Given the description of an element on the screen output the (x, y) to click on. 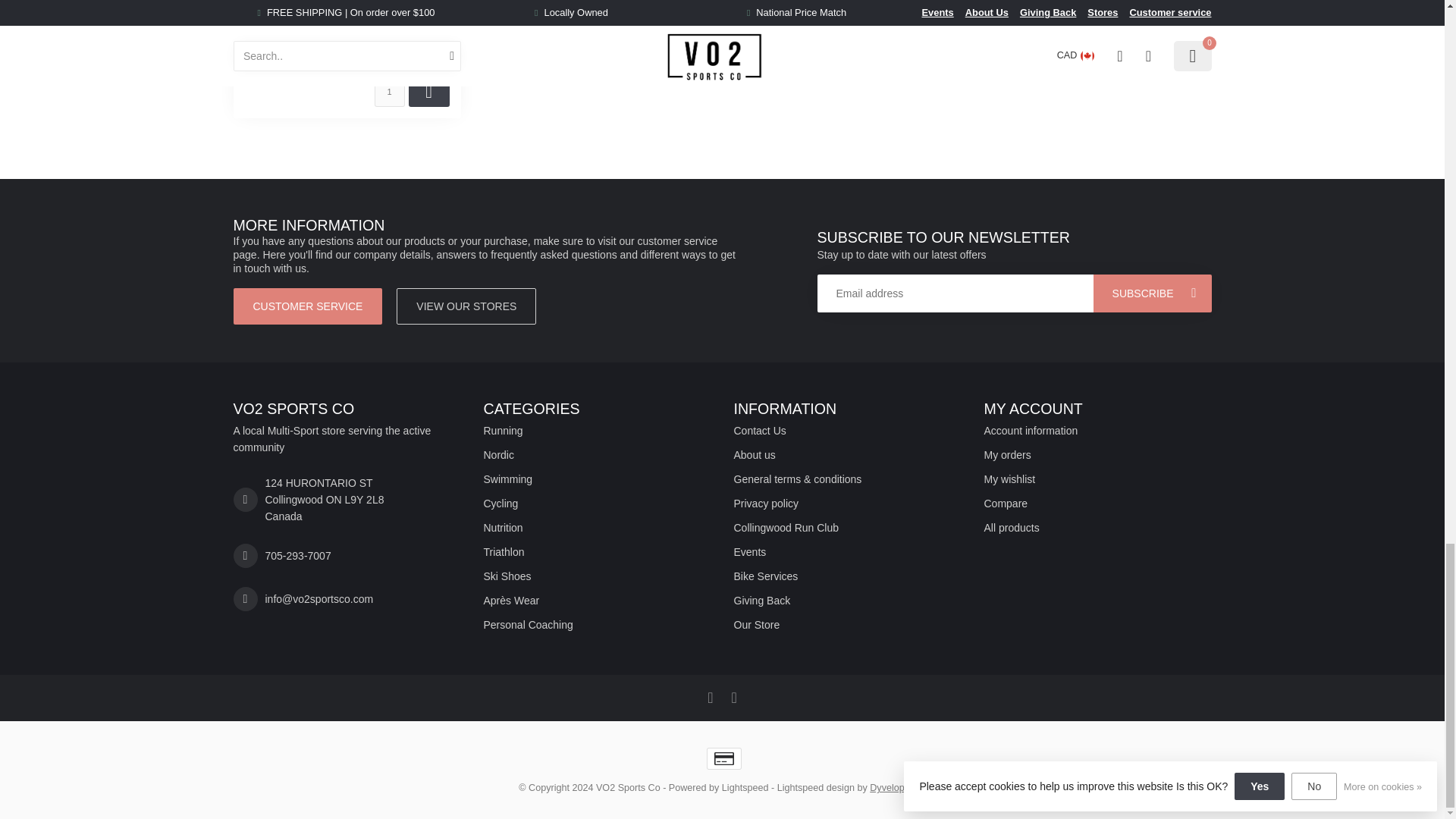
Bike Services (846, 576)
Triswim Triswim Conditioner (346, 2)
Events (846, 551)
Privacy policy (846, 503)
About us (846, 454)
1 (389, 91)
Contact Us (846, 430)
Collingwood Run Club (846, 527)
